Given the description of an element on the screen output the (x, y) to click on. 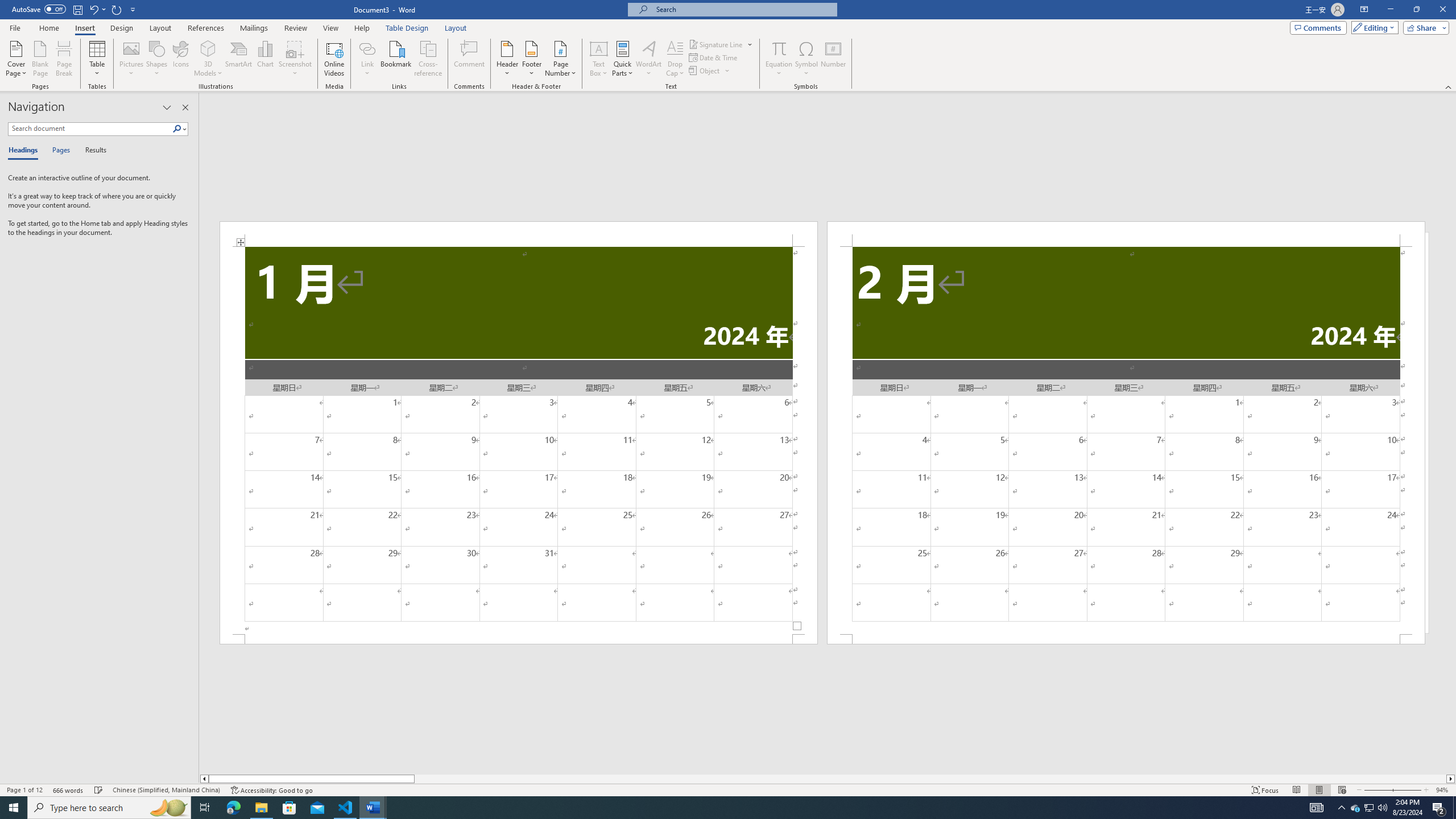
Drop Cap (674, 58)
Quick Access Toolbar (74, 9)
Headings (25, 150)
Online Videos... (333, 58)
Search document (89, 128)
Comment (469, 58)
Pages (59, 150)
Task Pane Options (167, 107)
Screenshot (295, 58)
Shapes (156, 58)
Close (1442, 9)
Search (177, 128)
Class: NetUIImage (177, 128)
File Tab (15, 27)
Minimize (1390, 9)
